Given the description of an element on the screen output the (x, y) to click on. 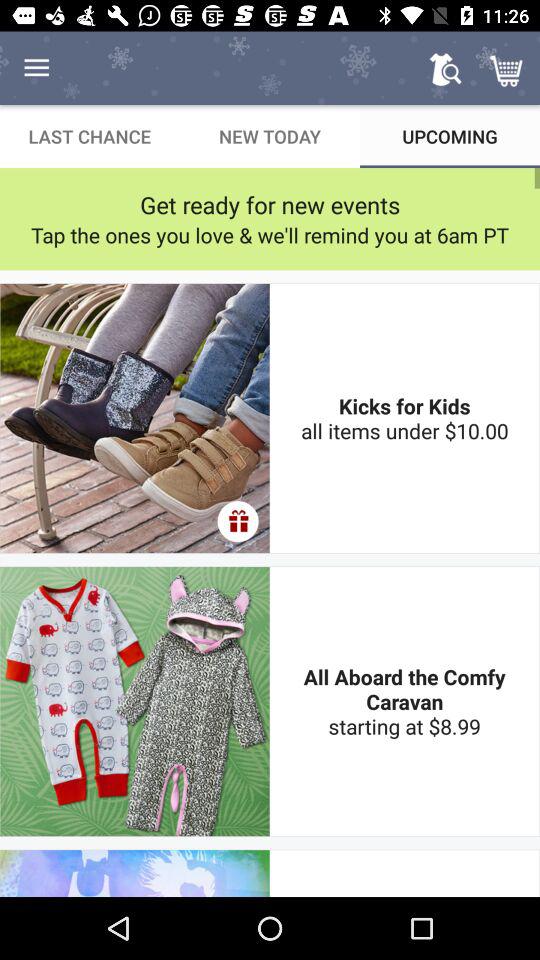
press icon above the tap the ones item (270, 204)
